Given the description of an element on the screen output the (x, y) to click on. 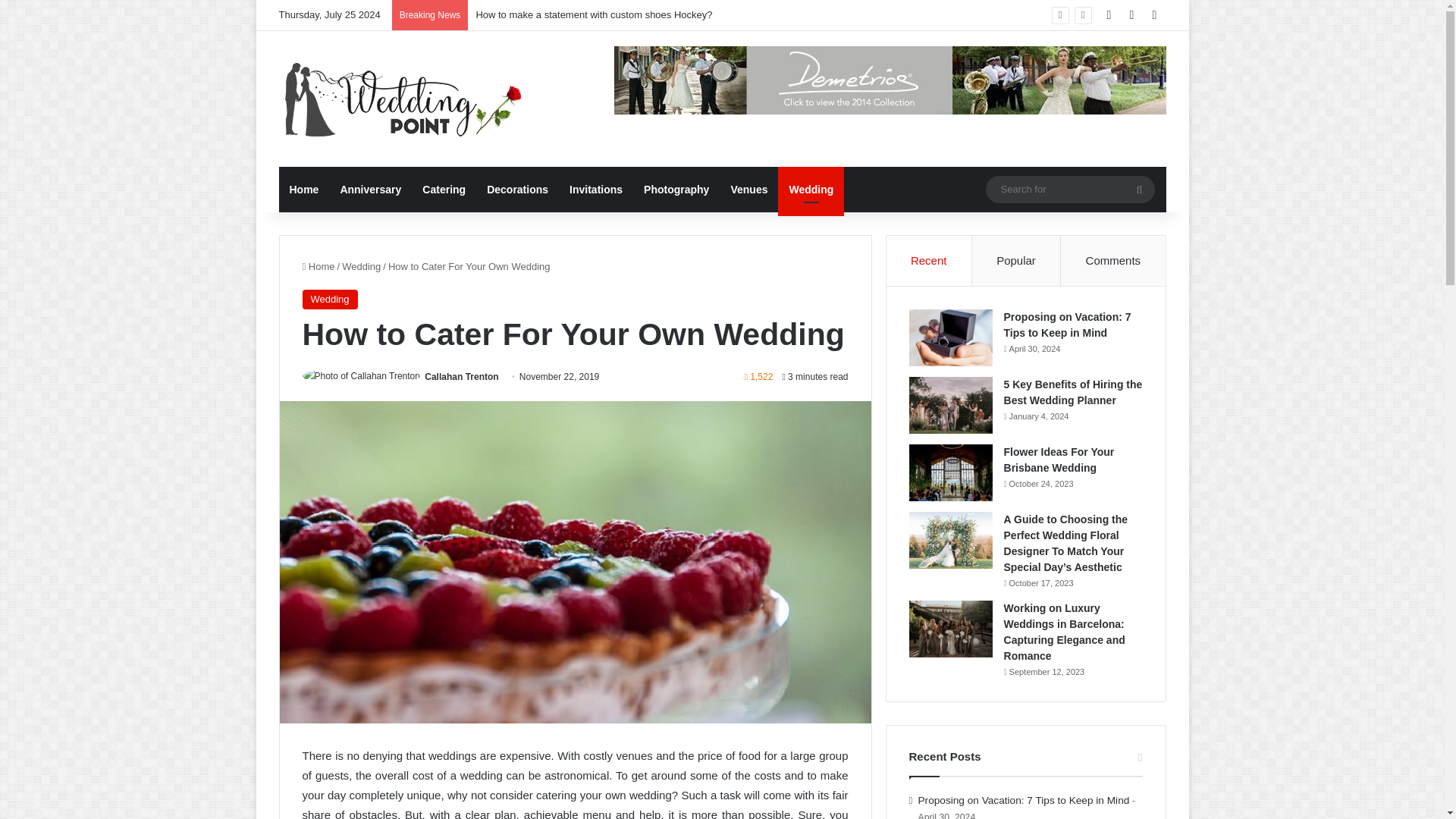
Wedding (328, 299)
How to make a statement with custom shoes Hockey? (593, 14)
Home (304, 189)
Anniversary (370, 189)
Callahan Trenton (461, 376)
Search for (1139, 189)
Invitations (596, 189)
Venues (748, 189)
Decorations (517, 189)
Wedding (810, 189)
Home (317, 266)
Catering (444, 189)
Photography (676, 189)
Callahan Trenton (461, 376)
Search for (1069, 189)
